Given the description of an element on the screen output the (x, y) to click on. 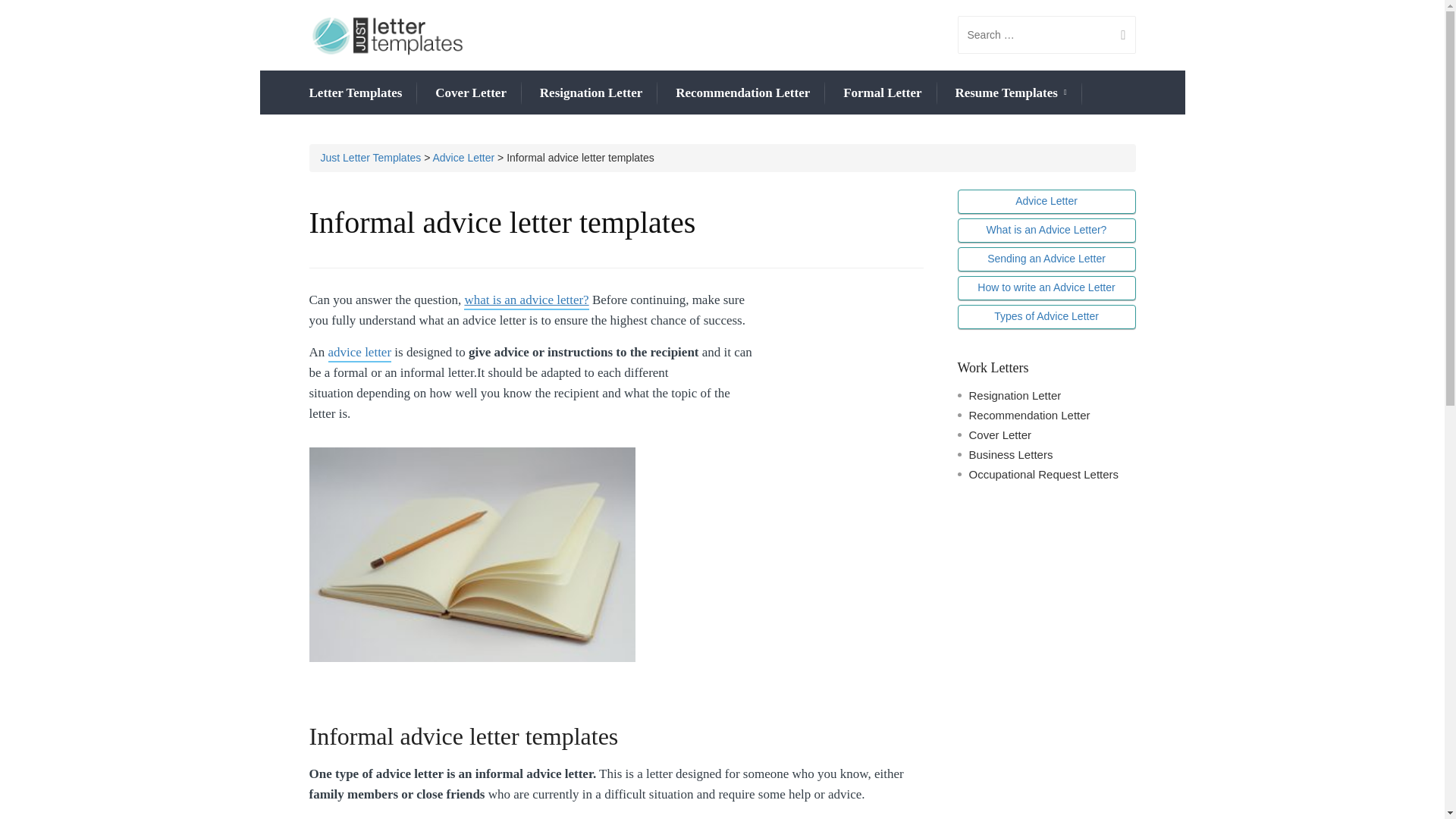
Resume Templates (1010, 93)
Just Letter Templates (370, 157)
Formal Letter (882, 92)
Search (1117, 34)
Letter Templates (355, 92)
Go to the Advice Letter Category archives. (463, 157)
Recommendation Letter (742, 92)
Cover Letter (470, 92)
advice letter (360, 353)
what is an advice letter? (526, 301)
Search (1117, 34)
Resignation Letter (591, 92)
Advice Letter (463, 157)
Go to Just Letter Templates. (370, 157)
Search (1117, 34)
